Given the description of an element on the screen output the (x, y) to click on. 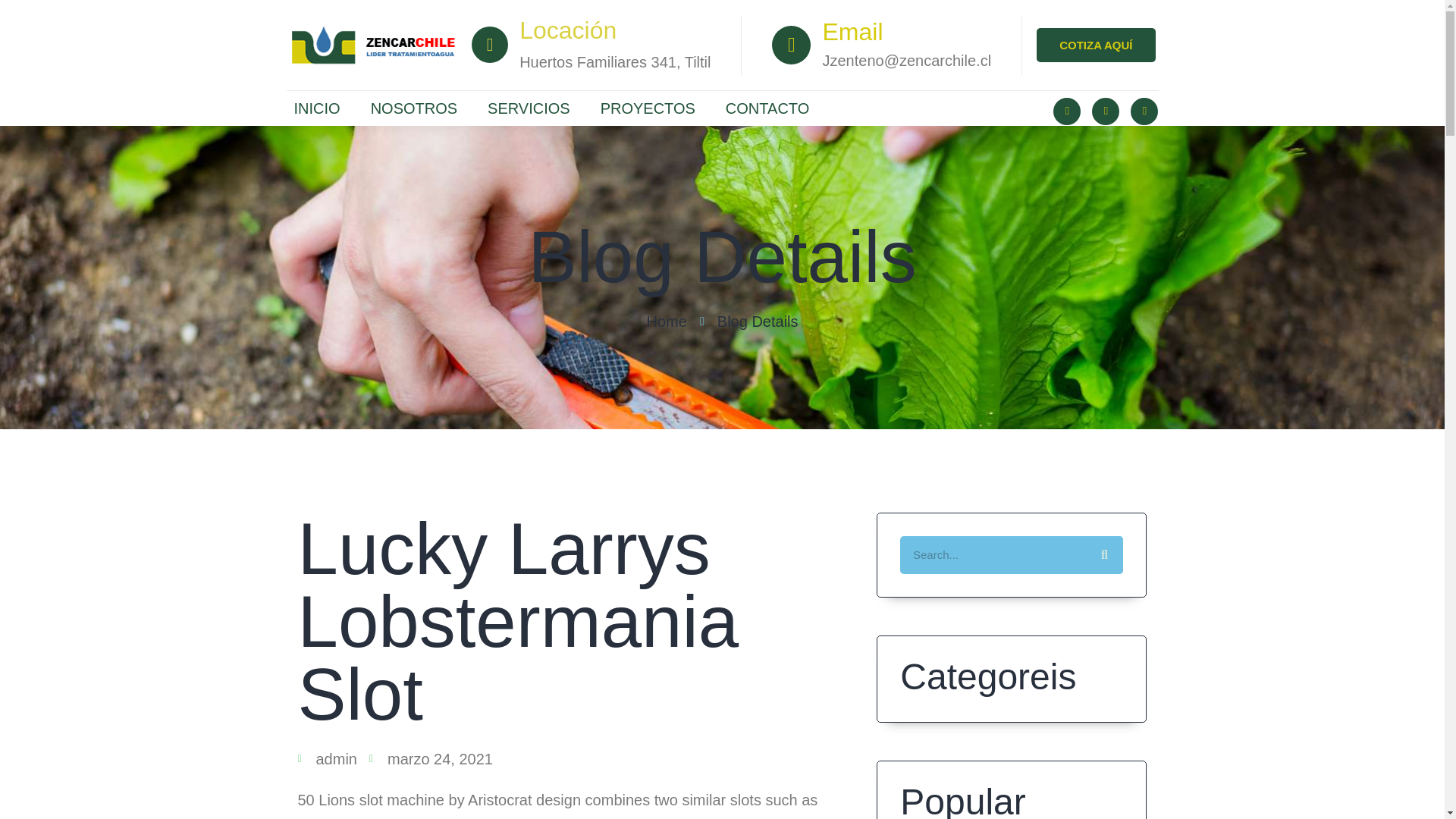
marzo 24, 2021 (431, 765)
INICIO (317, 108)
PROYECTOS (647, 108)
Home (665, 329)
CONTACTO (767, 108)
NOSOTROS (413, 108)
admin (326, 765)
SERVICIOS (528, 108)
